Given the description of an element on the screen output the (x, y) to click on. 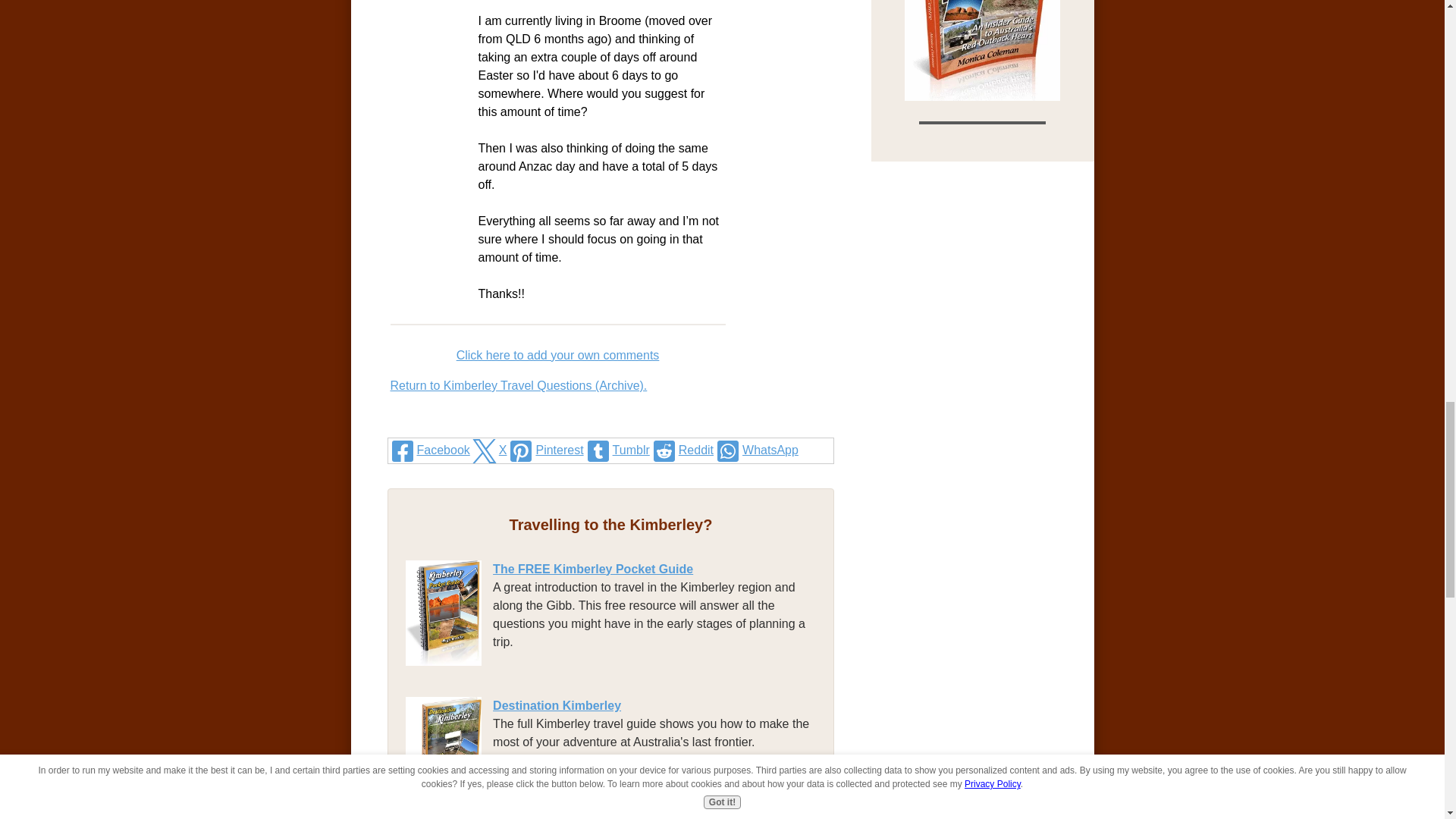
Click here to add your own comments (558, 354)
Go to NT Travel Guide: Destination Red Centre (982, 96)
Go to FREE Kimberley Travel Guide (449, 661)
